Given the description of an element on the screen output the (x, y) to click on. 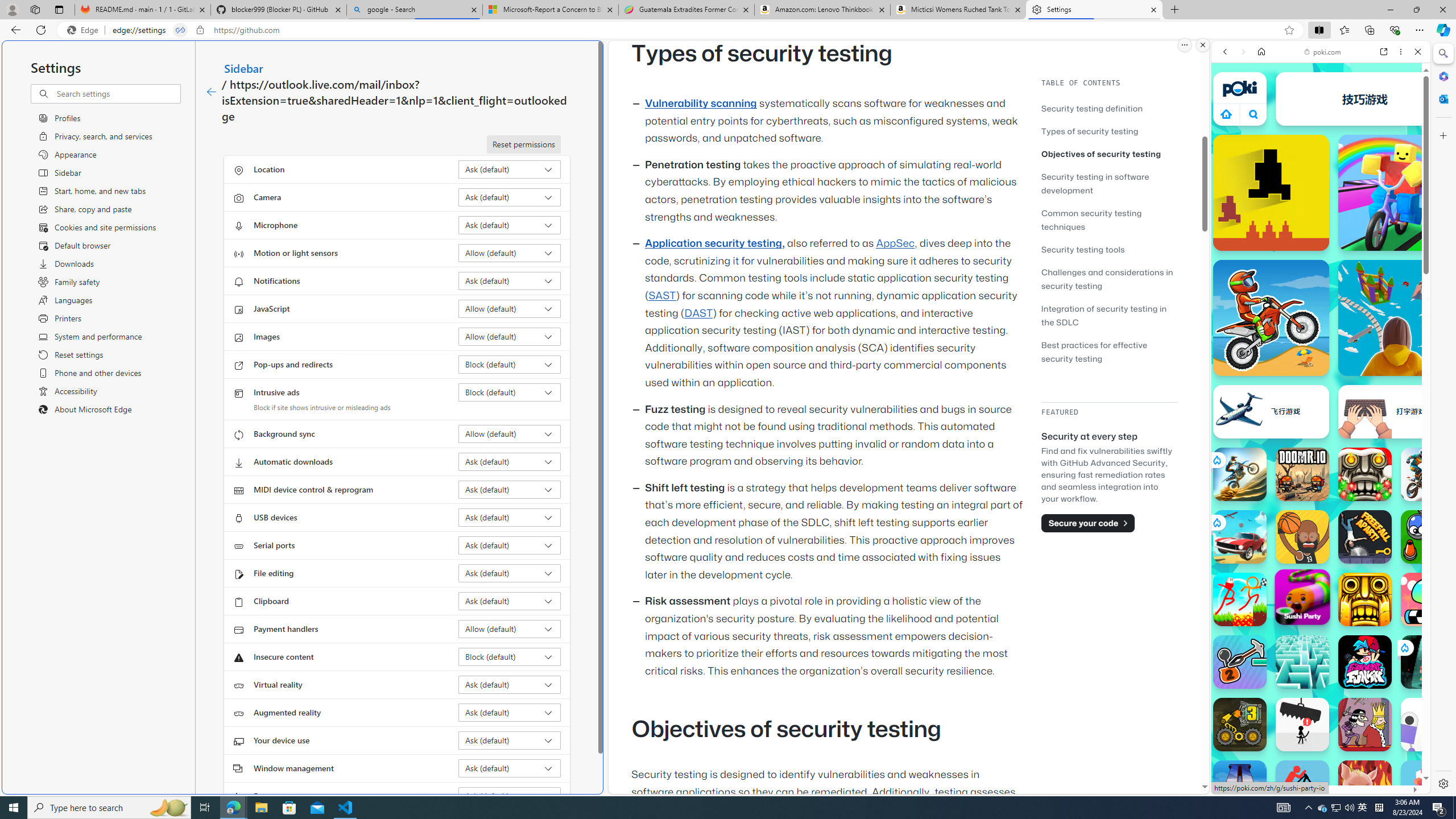
Level Devil (1270, 192)
Settings and more (Alt+F) (1419, 29)
SAST (661, 295)
Security testing in software development (1109, 183)
View site information (200, 29)
Address and search bar (695, 29)
Hills of Steel (1264, 523)
Temple Run 2 Temple Run 2 (1364, 599)
Class: aprWdaSScyiJf4Jvmsx9 (1225, 113)
Stickman Climb 2 (1239, 661)
Two Player Games (1320, 323)
Level Devil Level Devil (1270, 192)
